Given the description of an element on the screen output the (x, y) to click on. 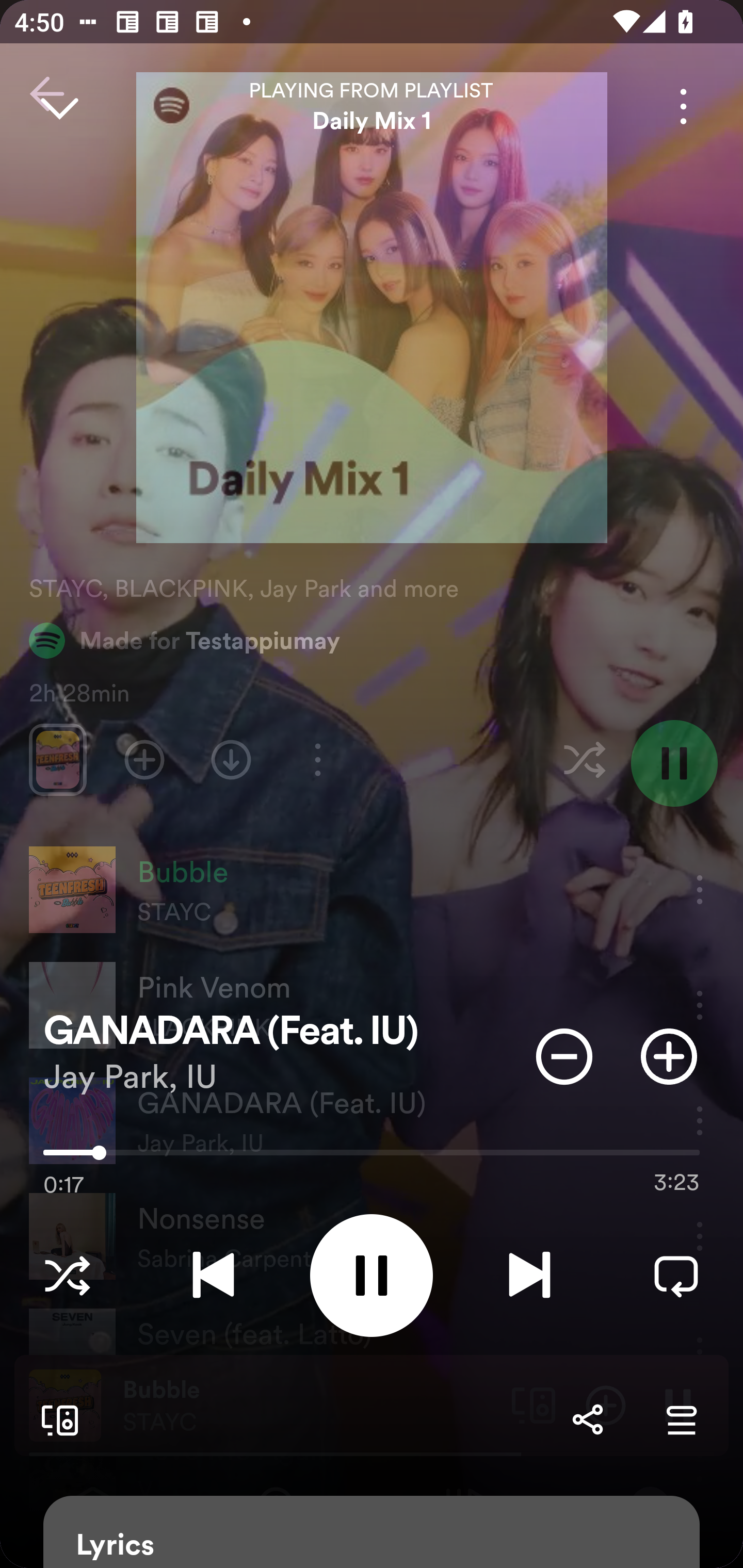
Close (59, 106)
More options for song GANADARA (Feat. IU) (683, 106)
PLAYING FROM PLAYLIST Daily Mix 1 (371, 106)
Don't play this (564, 1056)
Add item (669, 1056)
0:16 3:23 16607.0 Use volume keys to adjust (371, 1157)
Pause (371, 1275)
Previous (212, 1275)
Next (529, 1275)
Shuffle tracks (66, 1275)
Repeat (676, 1275)
Share (587, 1419)
Go to Queue (681, 1419)
Connect to a device. Opens the devices menu (55, 1419)
Lyrics (371, 1531)
